Given the description of an element on the screen output the (x, y) to click on. 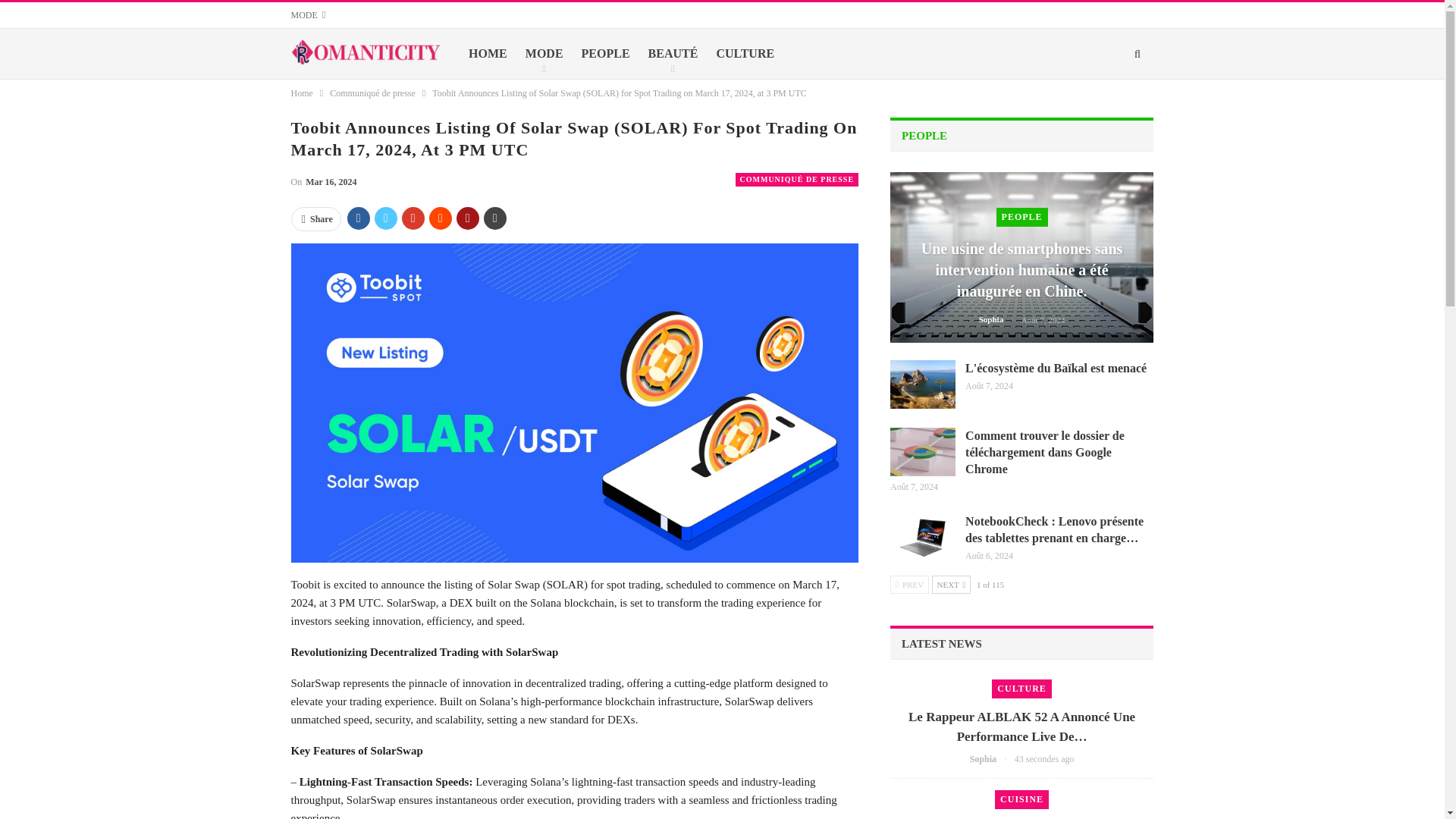
PEOPLE (605, 53)
CULTURE (744, 53)
HOME (487, 53)
MODE (308, 14)
MODE (544, 53)
